Given the description of an element on the screen output the (x, y) to click on. 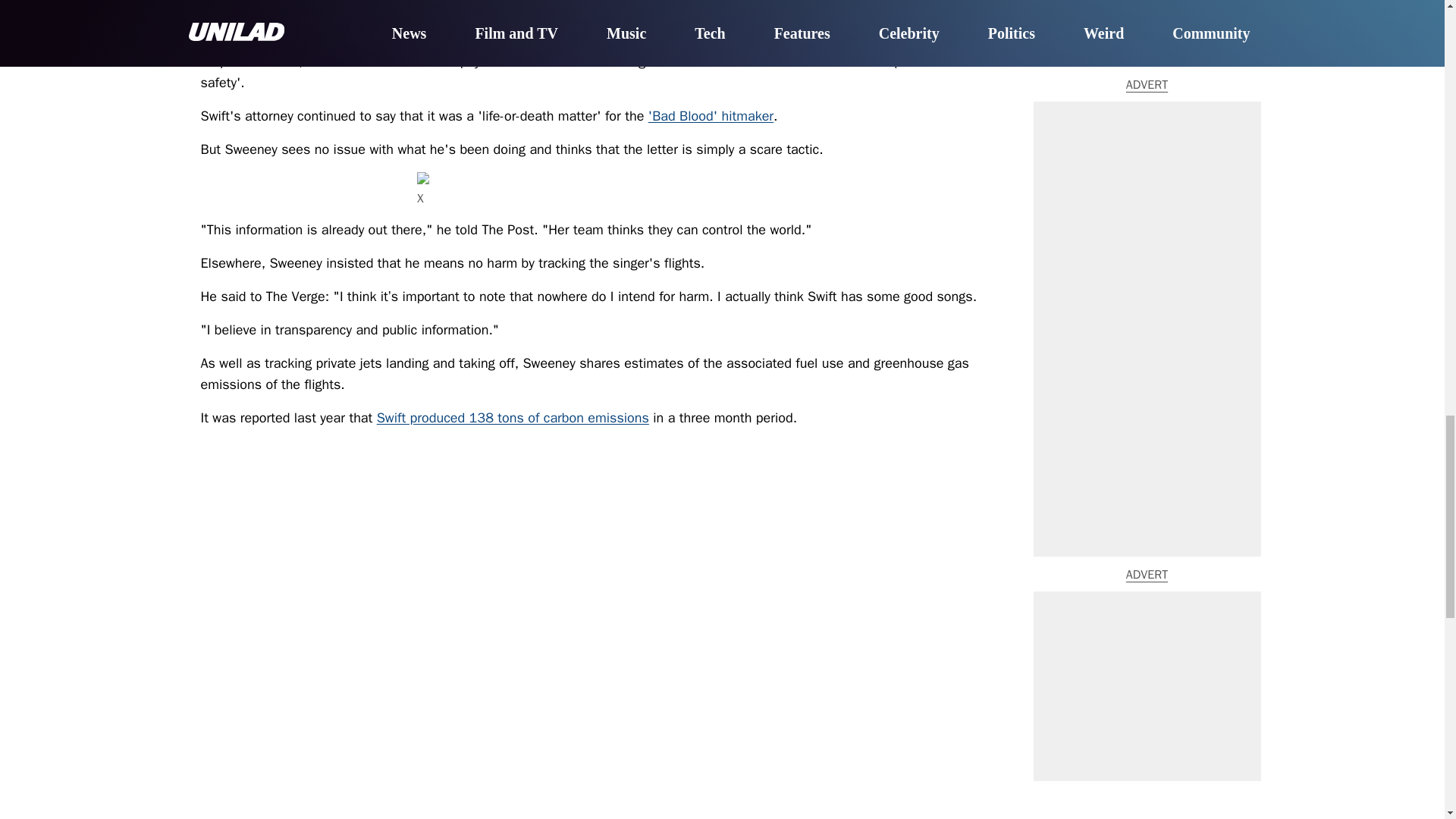
'Bad Blood' hitmaker (710, 115)
Swift produced 138 tons of carbon emissions (513, 417)
